Given the description of an element on the screen output the (x, y) to click on. 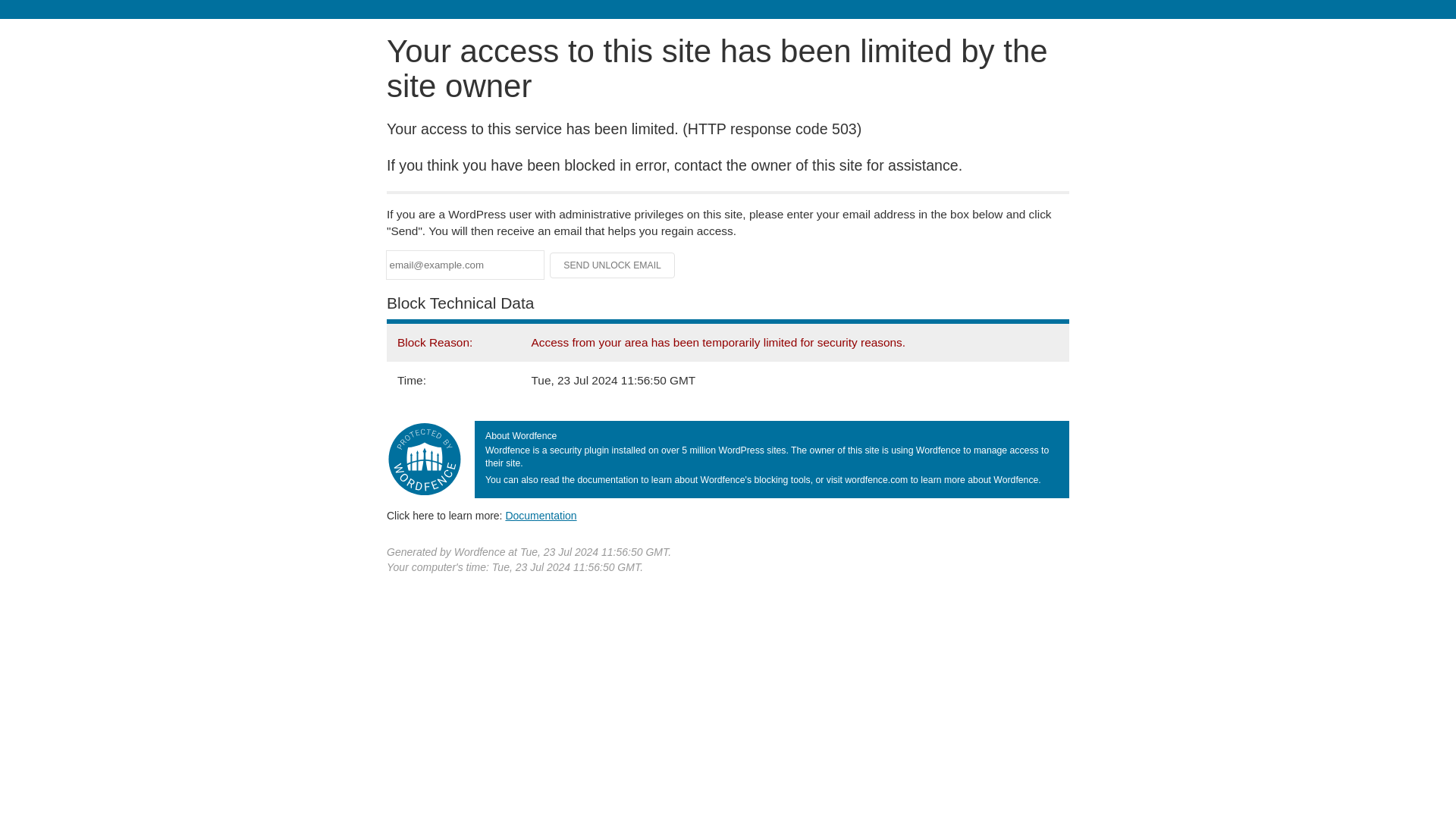
Send Unlock Email (612, 265)
Send Unlock Email (612, 265)
Documentation (540, 515)
